Given the description of an element on the screen output the (x, y) to click on. 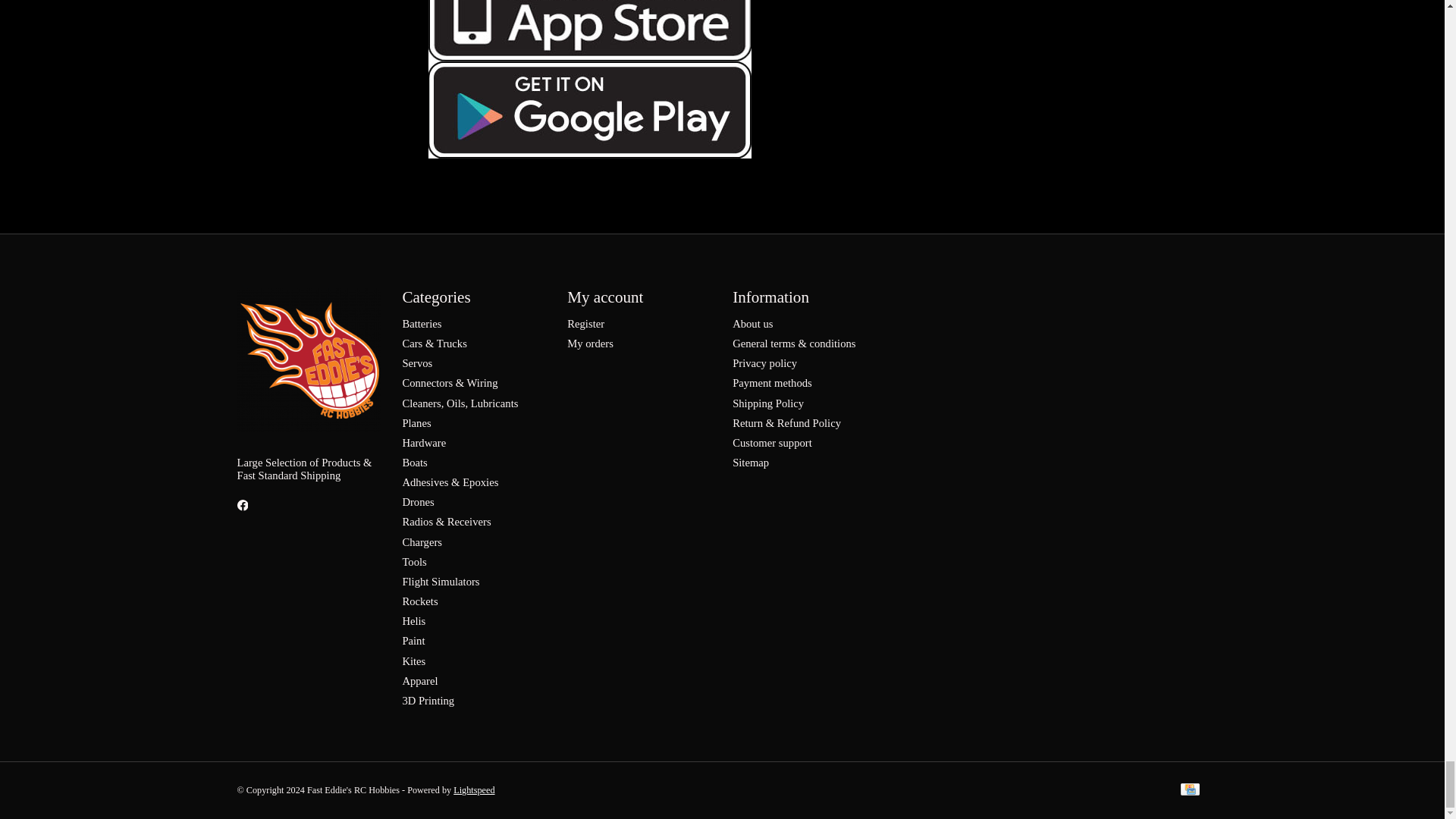
About us (752, 323)
Privacy policy (764, 363)
Payment methods (772, 382)
Customer support (772, 442)
Shipping Policy (767, 403)
Lightspeed (473, 789)
My orders (589, 343)
Sitemap (750, 462)
Register (585, 323)
Credit Card (1188, 790)
